Given the description of an element on the screen output the (x, y) to click on. 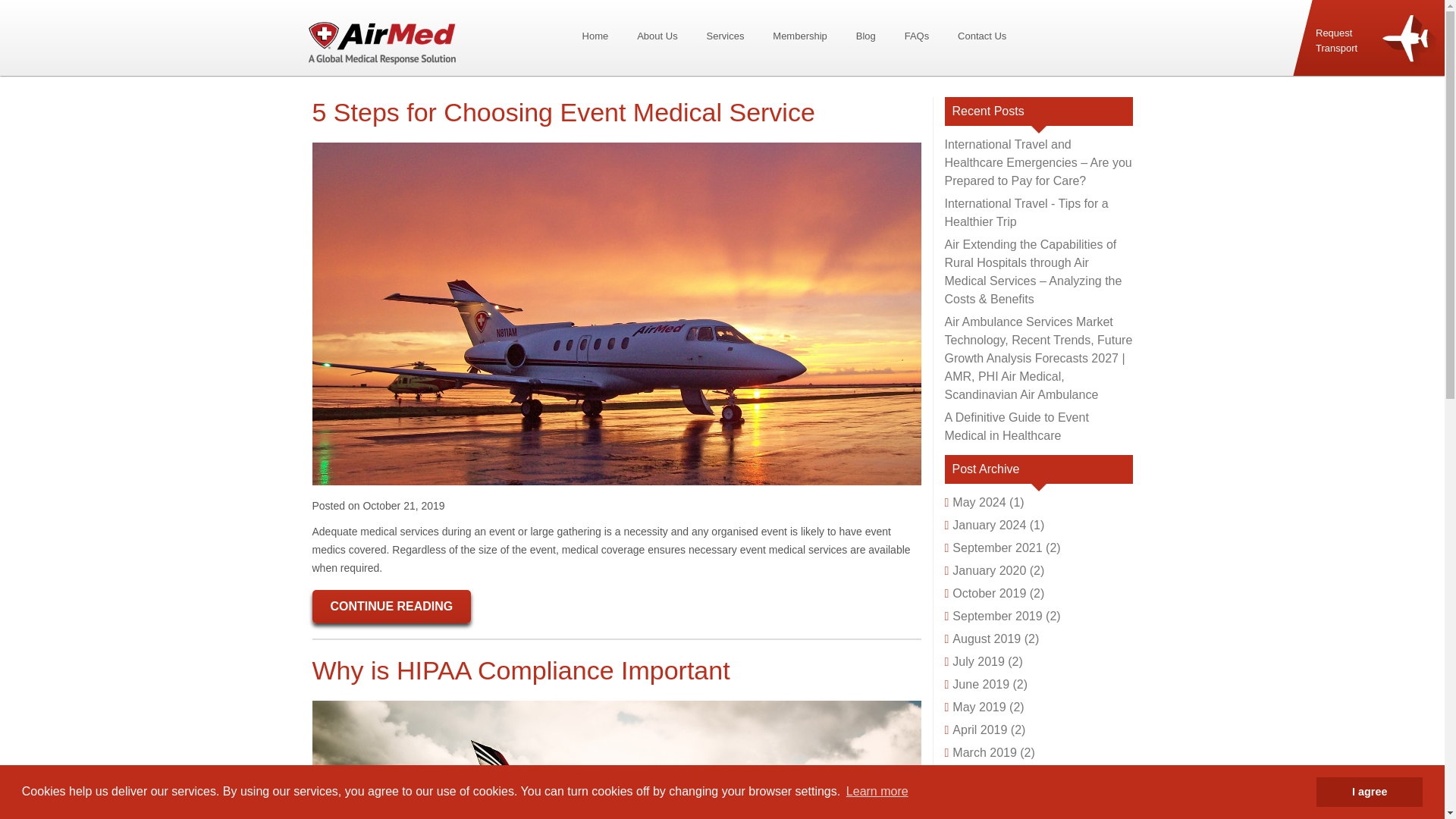
I agree (1369, 791)
About Us (656, 36)
Learn more (877, 791)
Services (725, 36)
Home (595, 36)
